Given the description of an element on the screen output the (x, y) to click on. 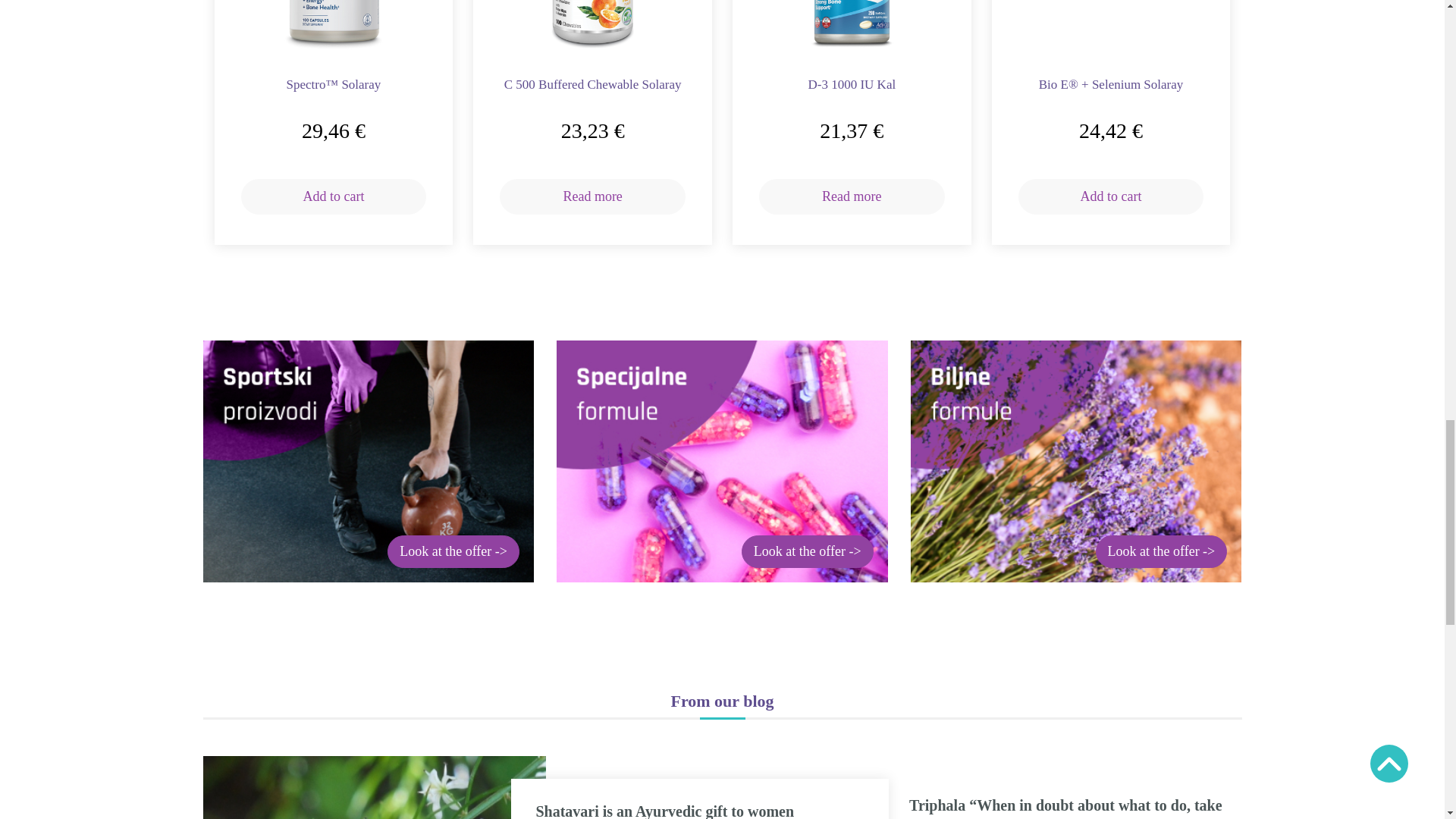
Sports products (368, 461)
